Given the description of an element on the screen output the (x, y) to click on. 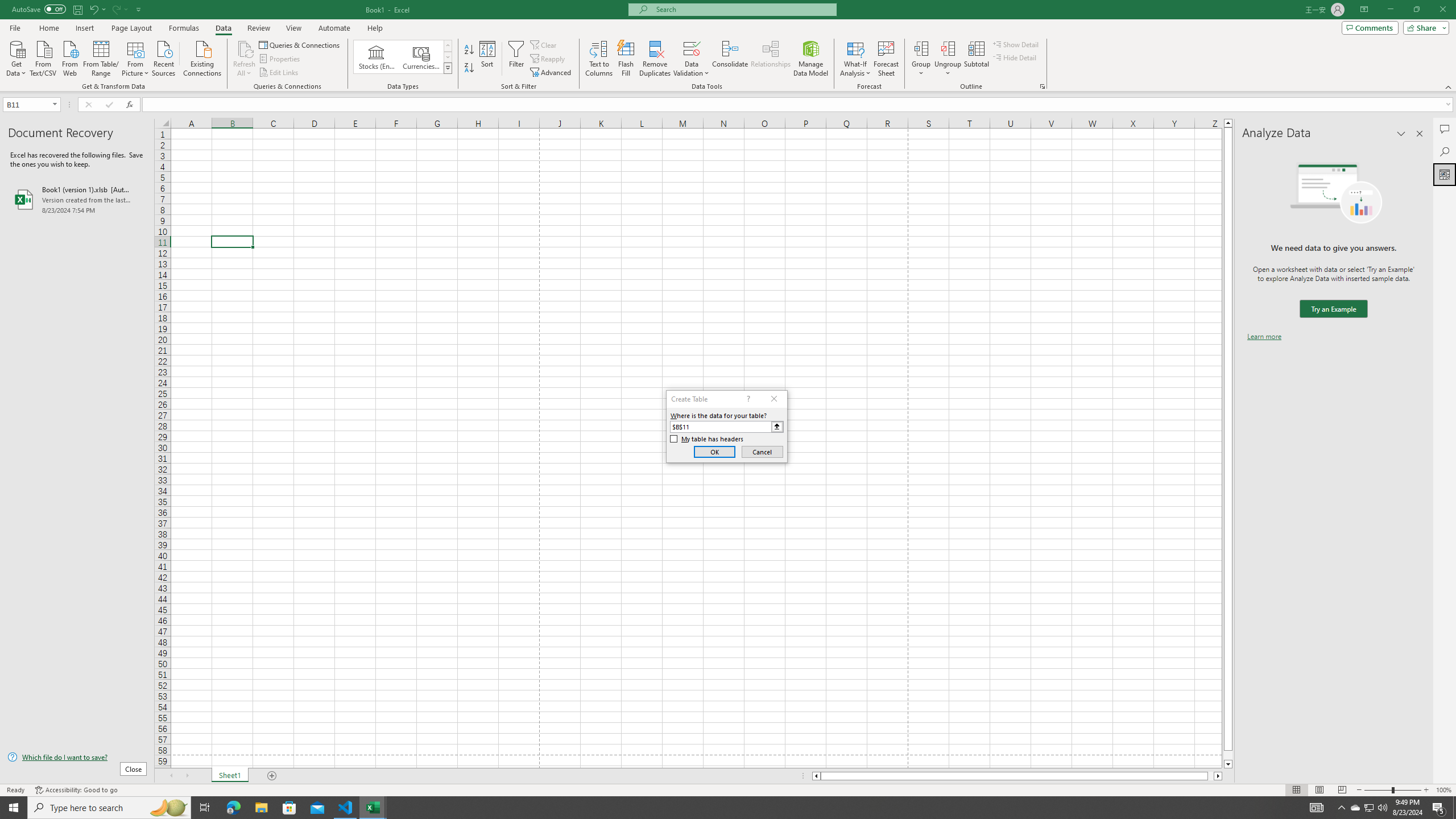
Which file do I want to save? (77, 757)
Learn more (1264, 336)
